Given the description of an element on the screen output the (x, y) to click on. 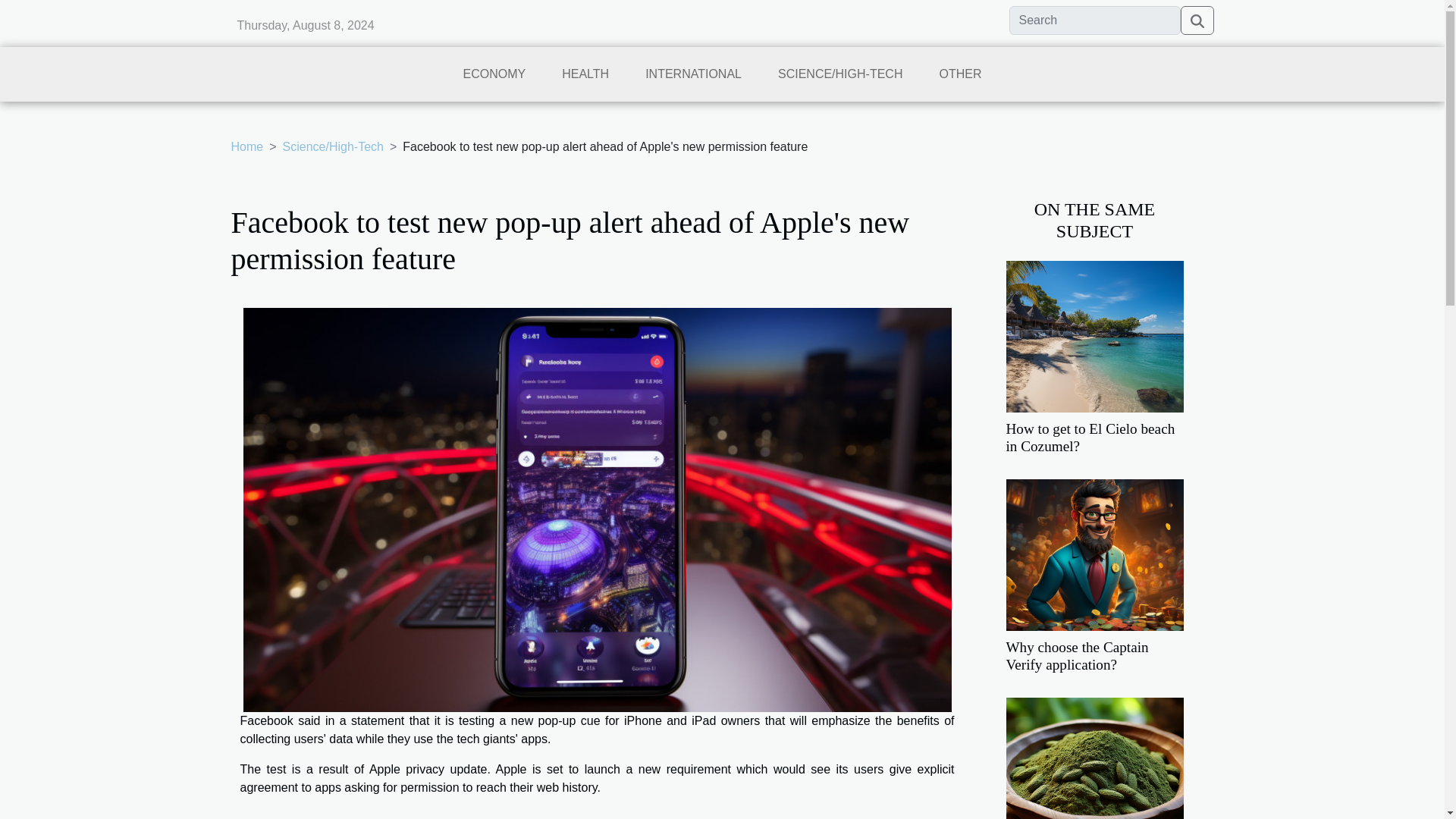
Why choose the Captain Verify application? (1077, 655)
How to get to El Cielo beach in Cozumel? (1094, 335)
Why choose the Captain Verify application? (1094, 553)
ECONOMY (494, 79)
Why choose the Captain Verify application? (1077, 655)
HEALTH (585, 79)
Home (246, 146)
How to get to El Cielo beach in Cozumel? (1090, 437)
How to get to El Cielo beach in Cozumel? (1090, 437)
OTHER (960, 79)
